Given the description of an element on the screen output the (x, y) to click on. 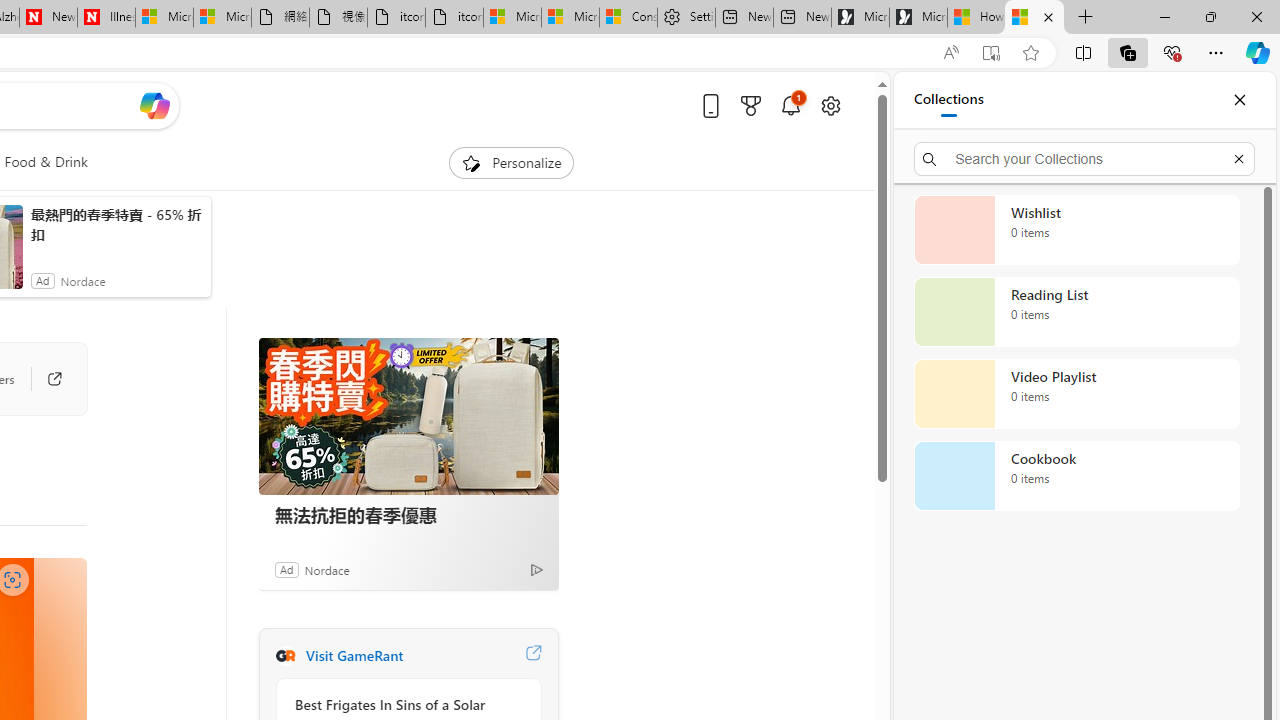
Search your Collections (1084, 158)
Go to publisher's site (44, 378)
Nordace (326, 569)
Reading List collection, 0 items (1076, 312)
Visit GameRant website (532, 655)
Ad Choice (535, 569)
Video Playlist collection, 0 items (1076, 394)
